Given the description of an element on the screen output the (x, y) to click on. 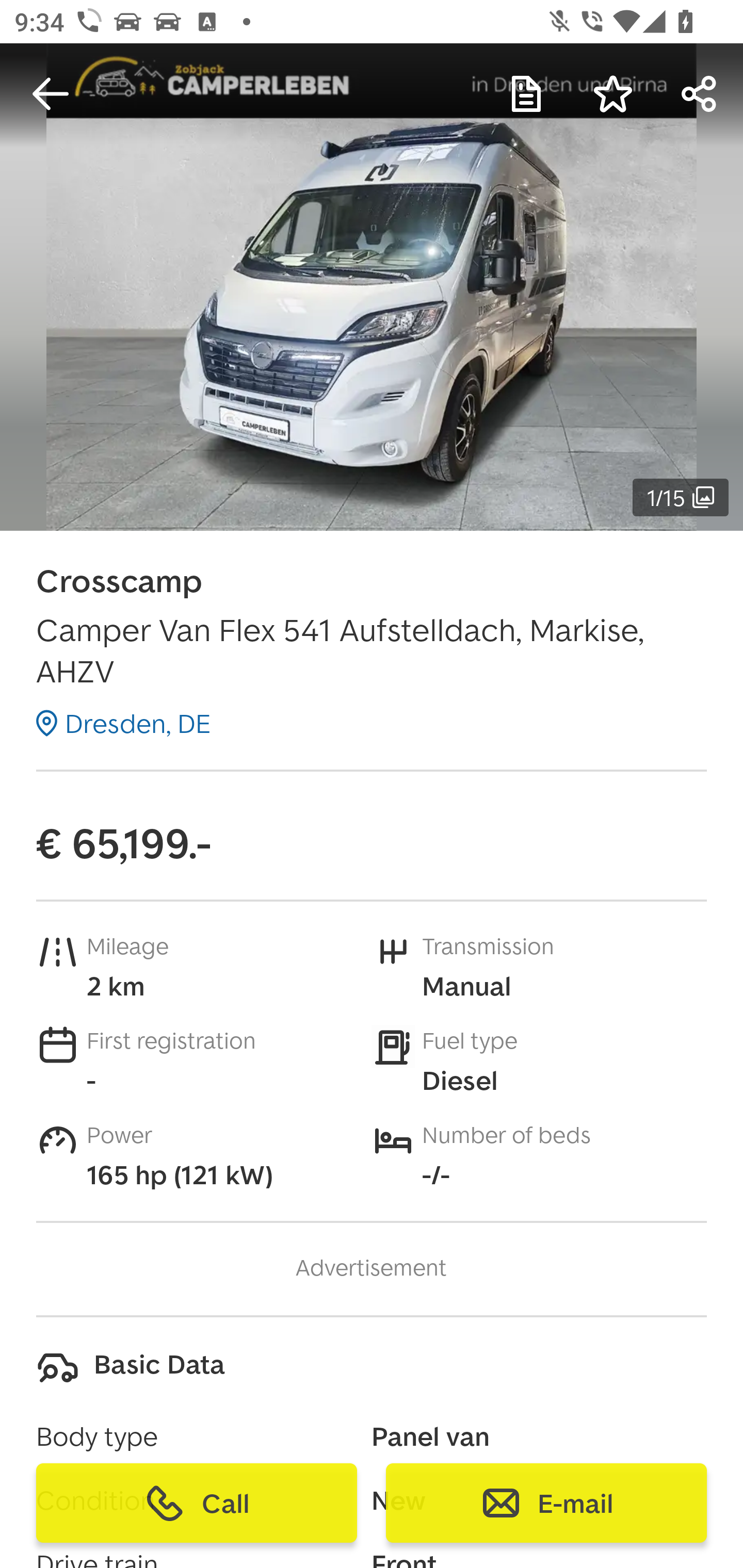
Navigate up (50, 93)
My Notes (525, 93)
Save (612, 93)
Forward (699, 93)
Dresden, DE (123, 722)
Call (196, 1502)
E-mail (545, 1502)
